Given the description of an element on the screen output the (x, y) to click on. 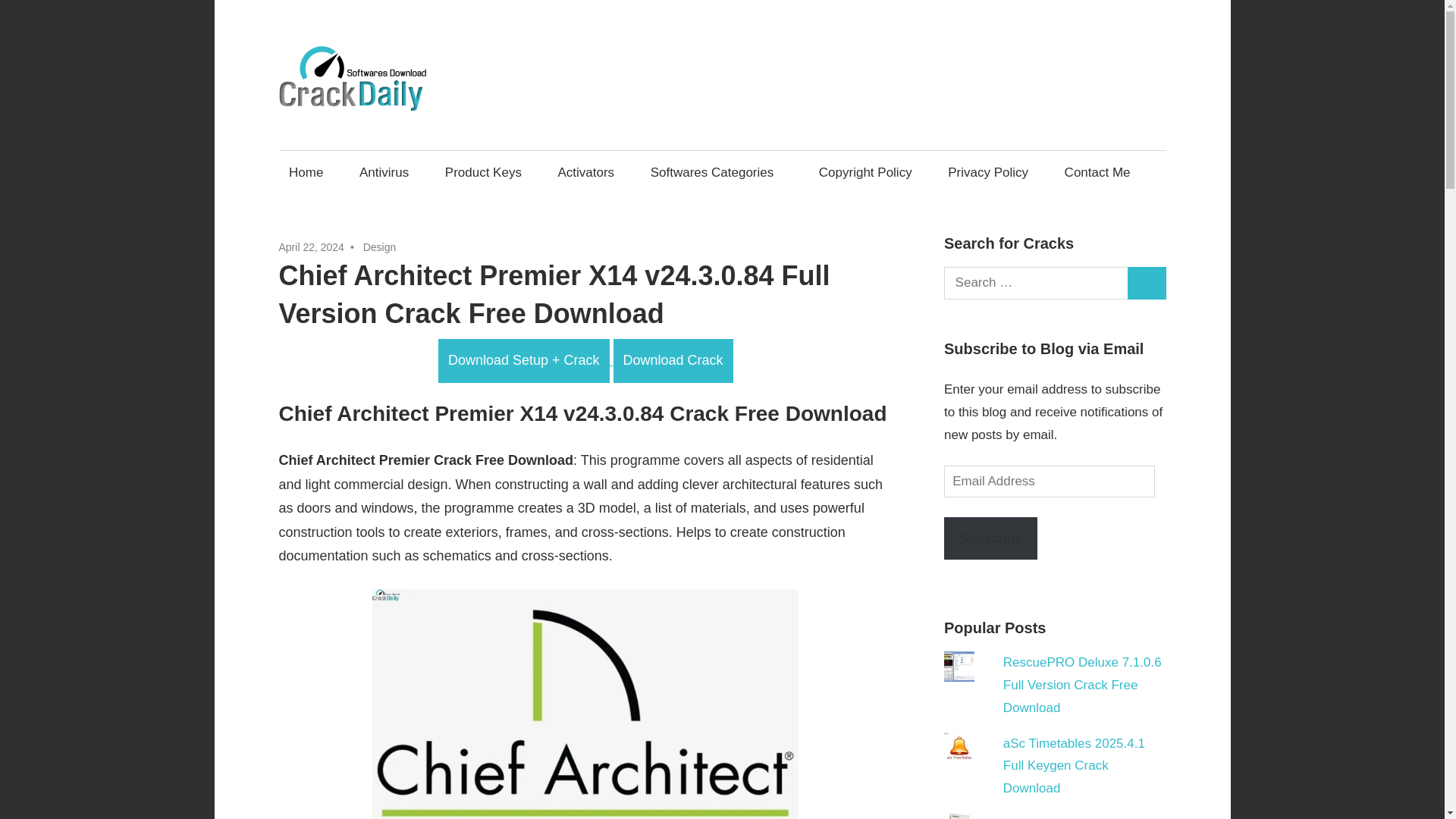
Download Crack (672, 361)
Activators (585, 171)
9:40 am (311, 246)
Home (306, 171)
Vectric Aspire Pro 12.535 Full Version Crack Free Download (1075, 817)
Privacy Policy (988, 171)
Product Keys (482, 171)
Antivirus (384, 171)
RescuePRO Deluxe 7.1.0.6 Full Version Crack Free Download (1082, 684)
aSc Timetables 2025.4.1 Full Keygen Crack Download (1073, 766)
